Given the description of an element on the screen output the (x, y) to click on. 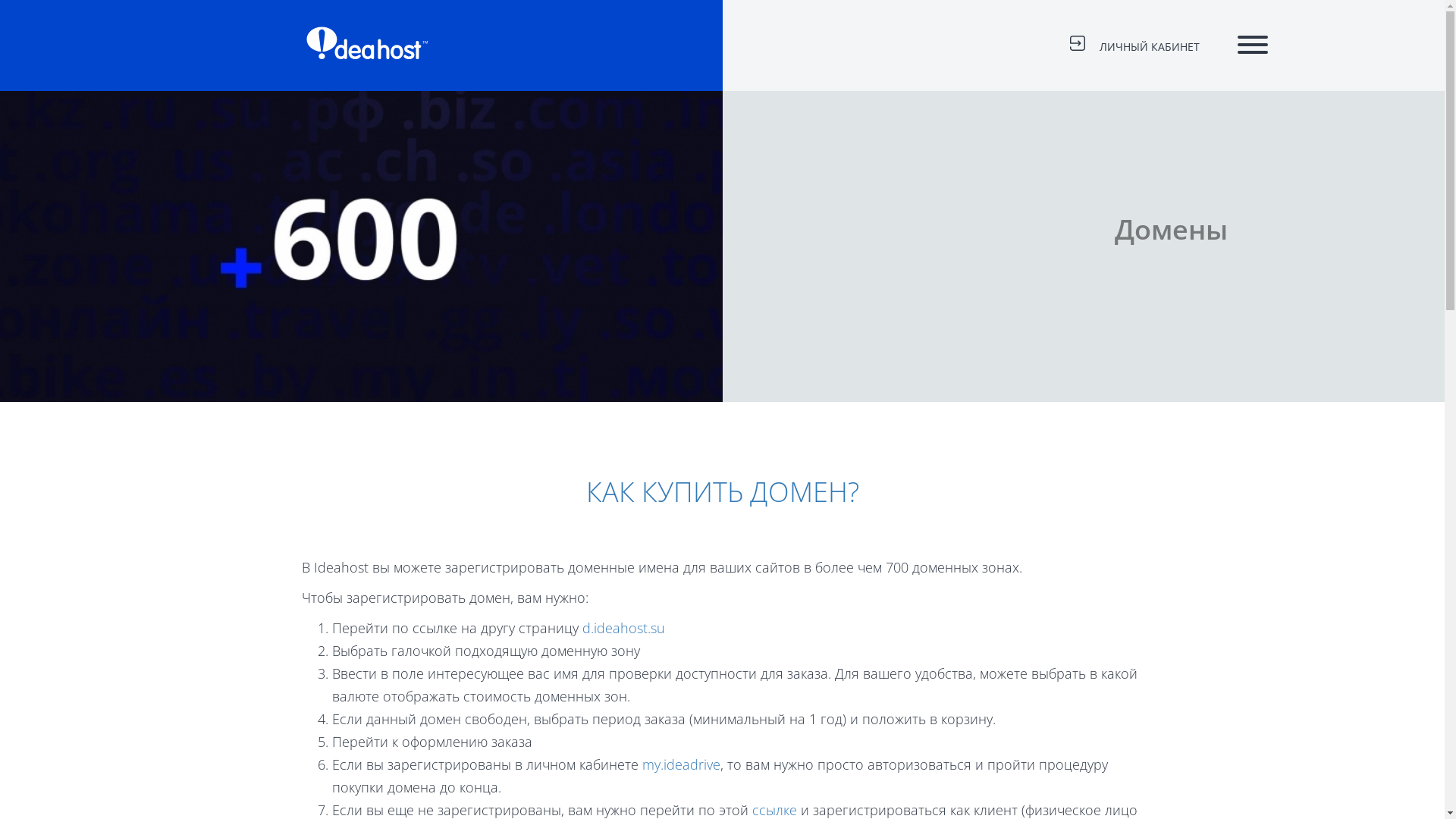
my.ideadrive Element type: text (680, 764)
d.ideahost.su Element type: text (623, 627)
